Given the description of an element on the screen output the (x, y) to click on. 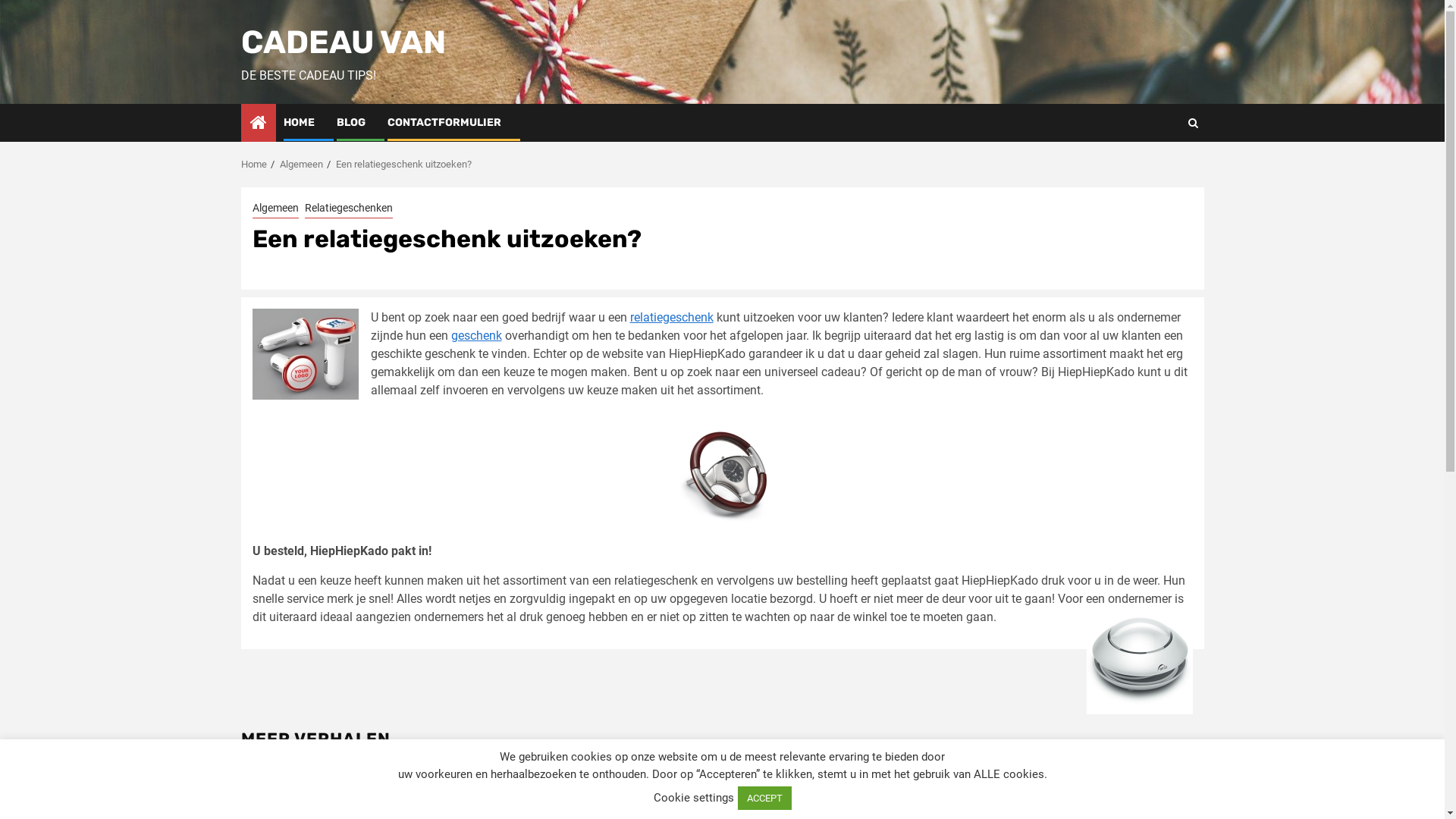
relatiegeschenk Element type: text (670, 317)
Algemeen Element type: text (274, 209)
CADEAU VAN Element type: text (343, 42)
Cookie settings Element type: text (693, 797)
Algemeen Element type: text (300, 163)
CONTACTFORMULIER Element type: text (443, 122)
Search Element type: hover (1192, 122)
ACCEPT Element type: text (763, 797)
HOME Element type: text (298, 122)
Home Element type: text (253, 163)
Relatiegeschenken Element type: text (348, 209)
Een relatiegeschenk uitzoeken? Element type: text (402, 163)
geschenk Element type: text (475, 335)
BLOG Element type: text (350, 122)
Zoeken Element type: text (1163, 168)
